Given the description of an element on the screen output the (x, y) to click on. 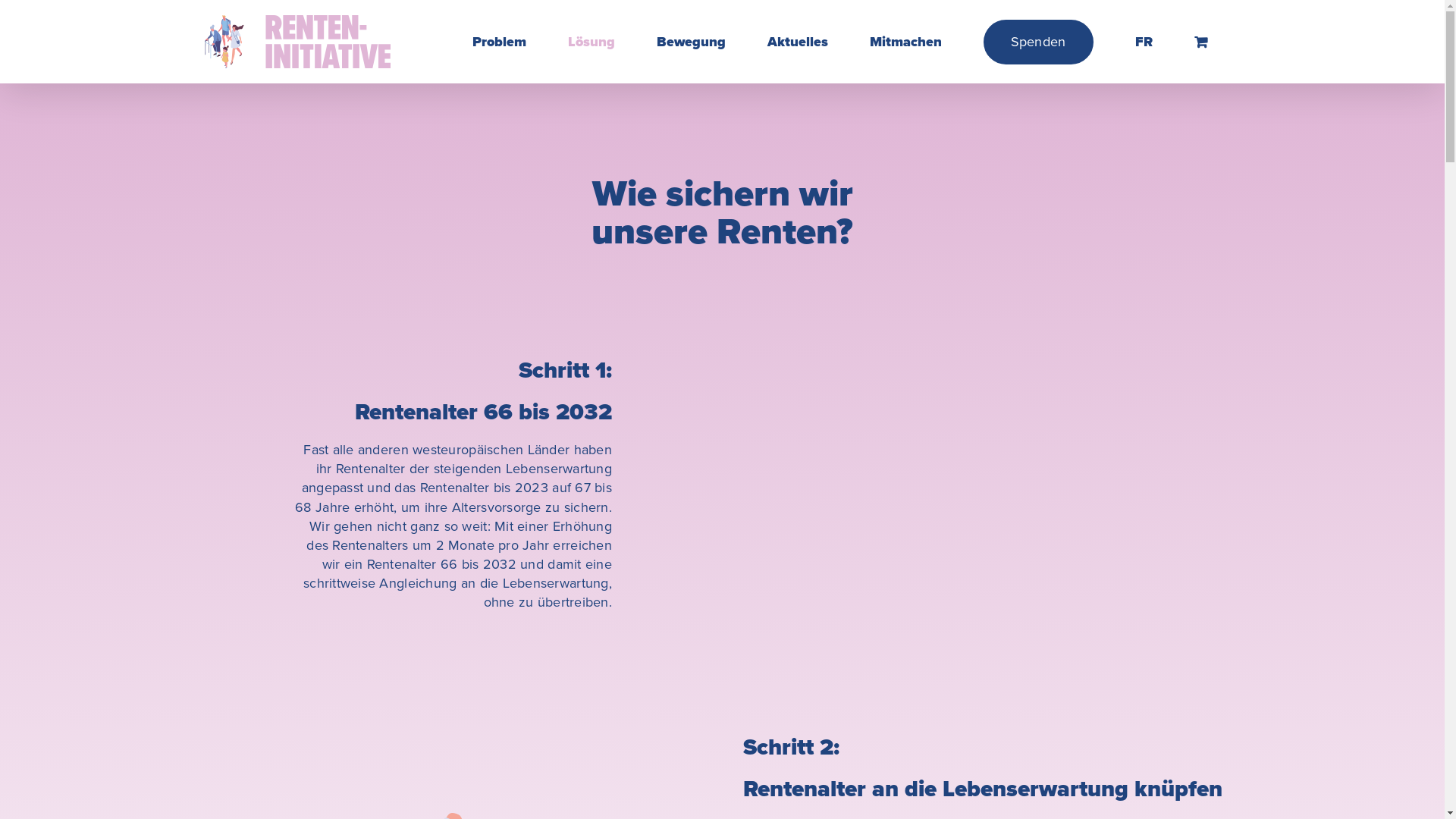
FR Element type: text (1143, 41)
Mitmachen Element type: text (905, 41)
Problem Element type: text (498, 41)
Bewegung Element type: text (690, 41)
Aktuelles Element type: text (796, 41)
Spenden Element type: text (1037, 41)
200711_renteninitiative_illustration_kuchen_crop Element type: hover (901, 484)
